Given the description of an element on the screen output the (x, y) to click on. 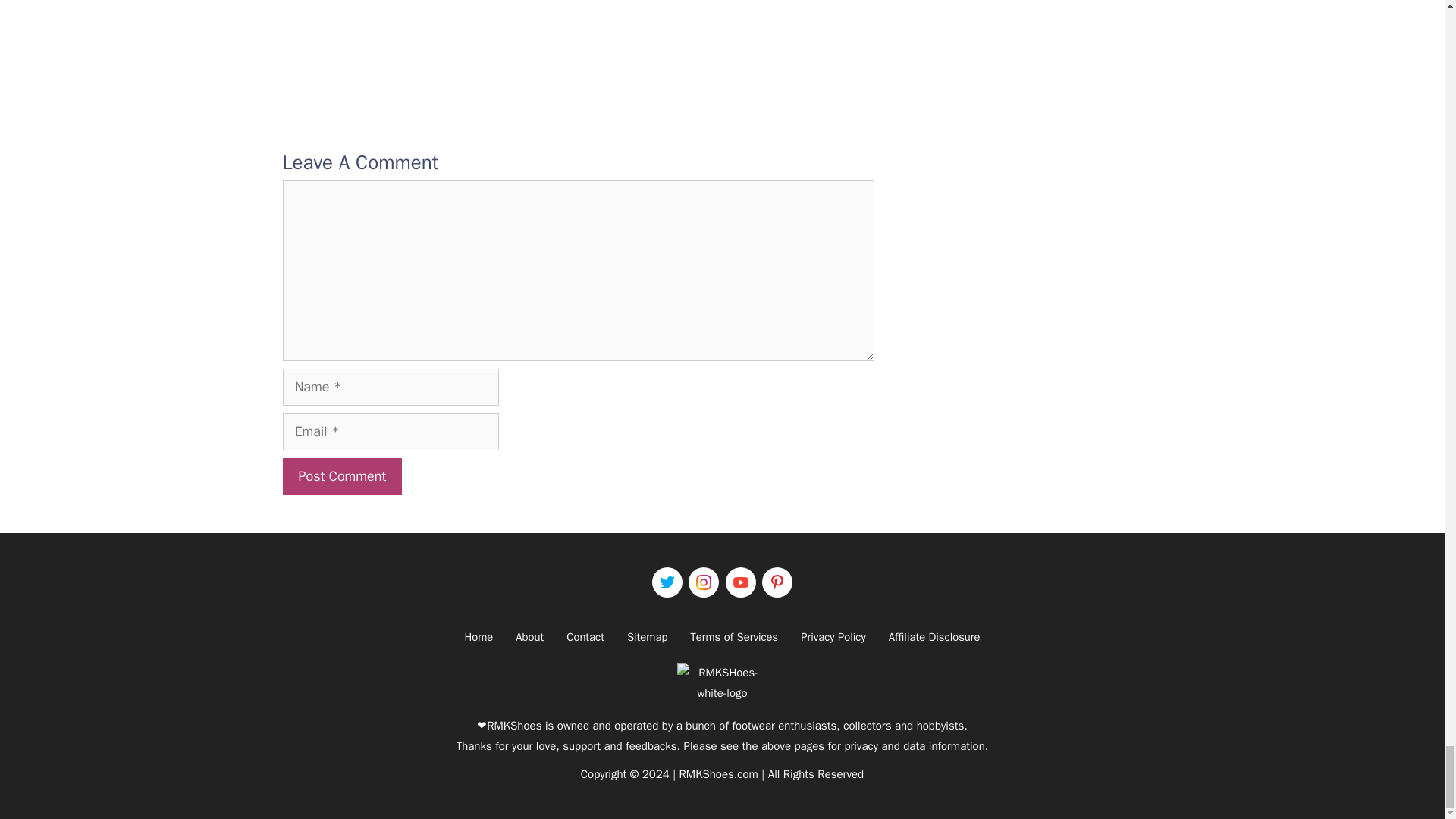
Youtube (740, 582)
Post Comment (341, 476)
Instagram (703, 582)
Twitter (667, 582)
